Given the description of an element on the screen output the (x, y) to click on. 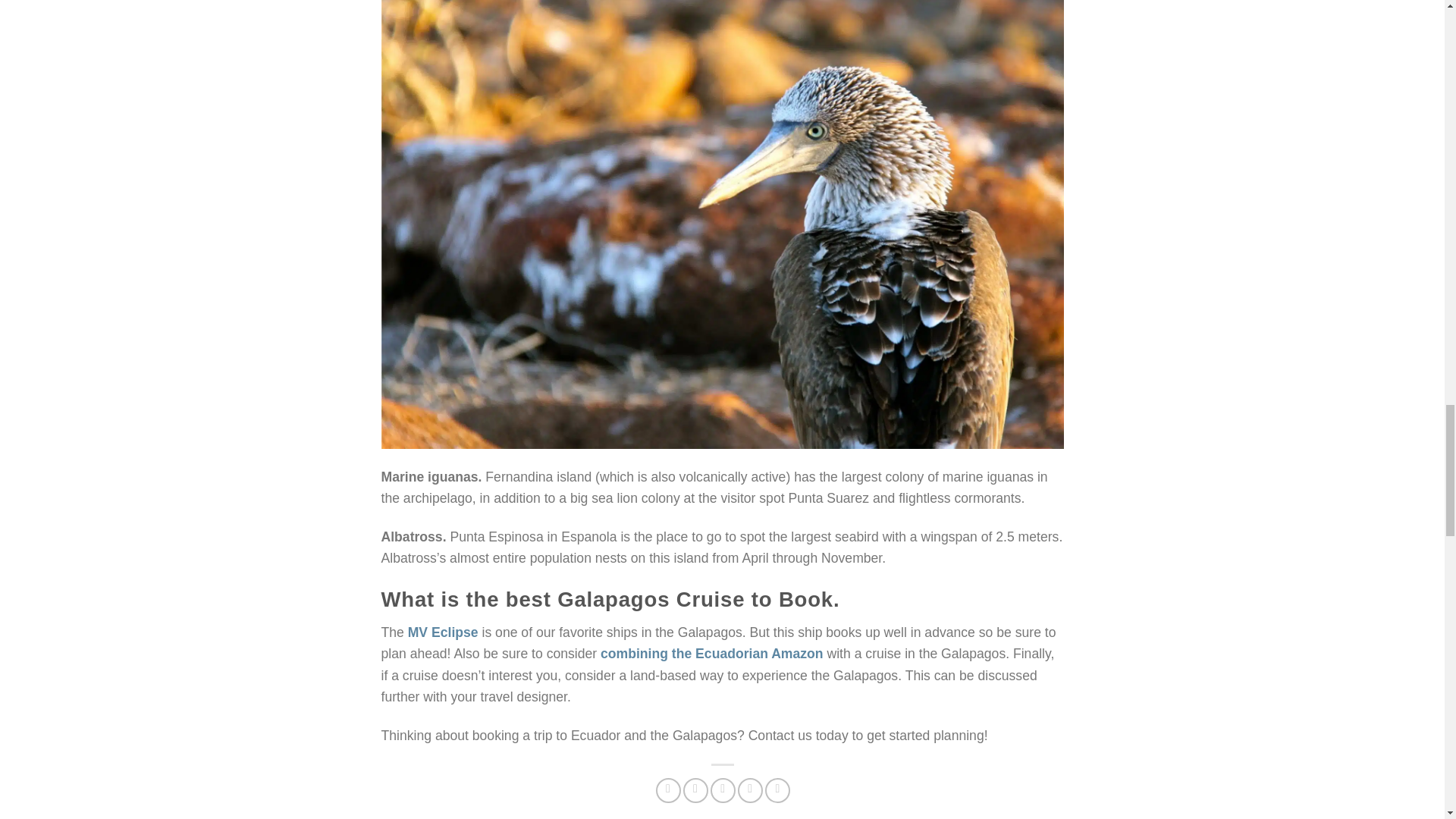
Share on Facebook (668, 790)
Share on Twitter (694, 790)
Pin on Pinterest (750, 790)
Email to a Friend (722, 790)
Share on LinkedIn (777, 790)
